Given the description of an element on the screen output the (x, y) to click on. 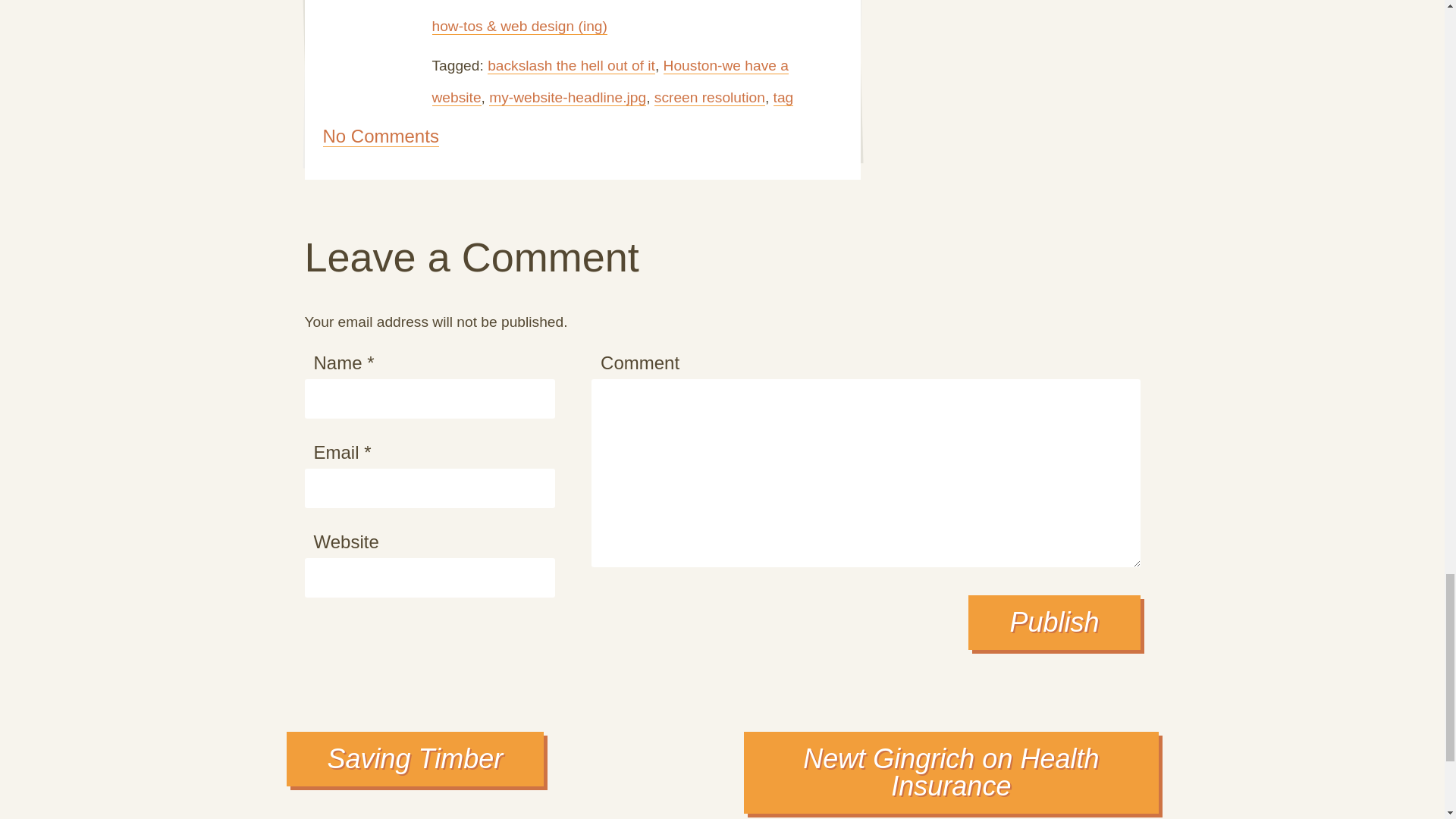
Publish (1054, 622)
Houston-we have a website (610, 81)
screen resolution (709, 97)
No Comments (381, 136)
my-website-headline.jpg (567, 97)
tag (783, 97)
backslash the hell out of it (571, 65)
Publish (1054, 622)
Newt Gingrich on Health Insurance (950, 773)
Saving Timber (415, 759)
